Given the description of an element on the screen output the (x, y) to click on. 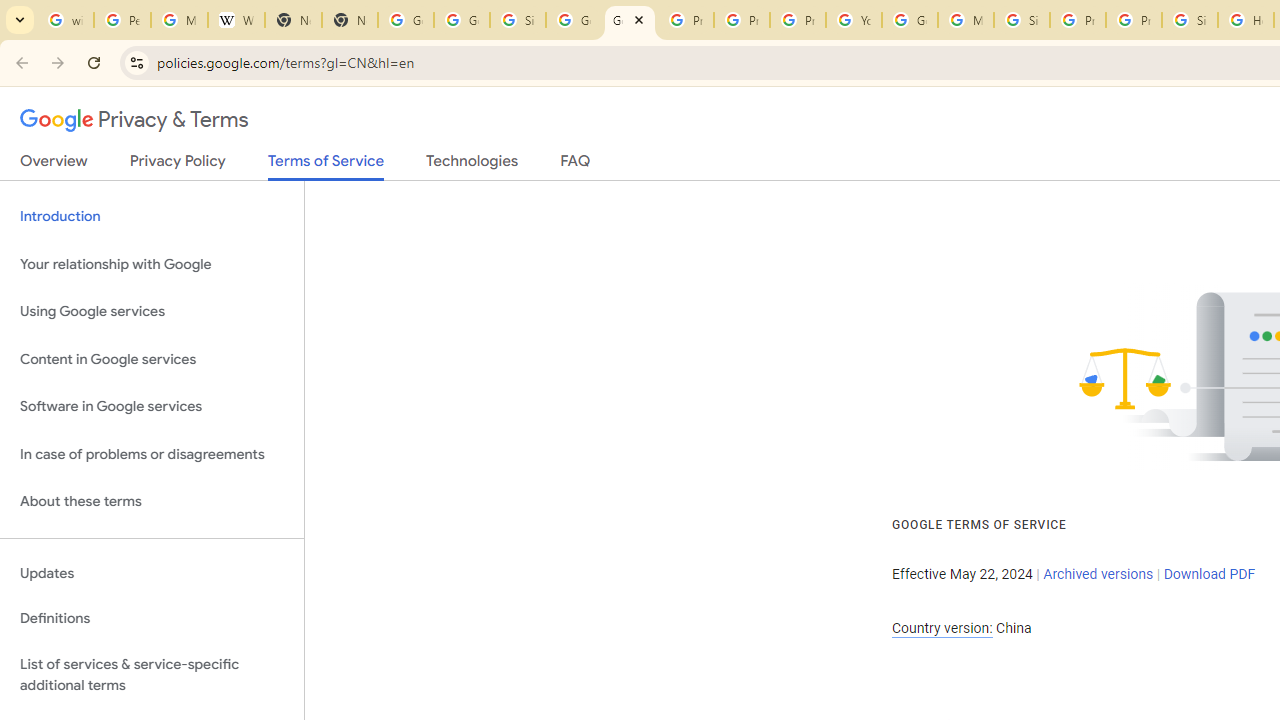
Manage your Location History - Google Search Help (179, 20)
